Given the description of an element on the screen output the (x, y) to click on. 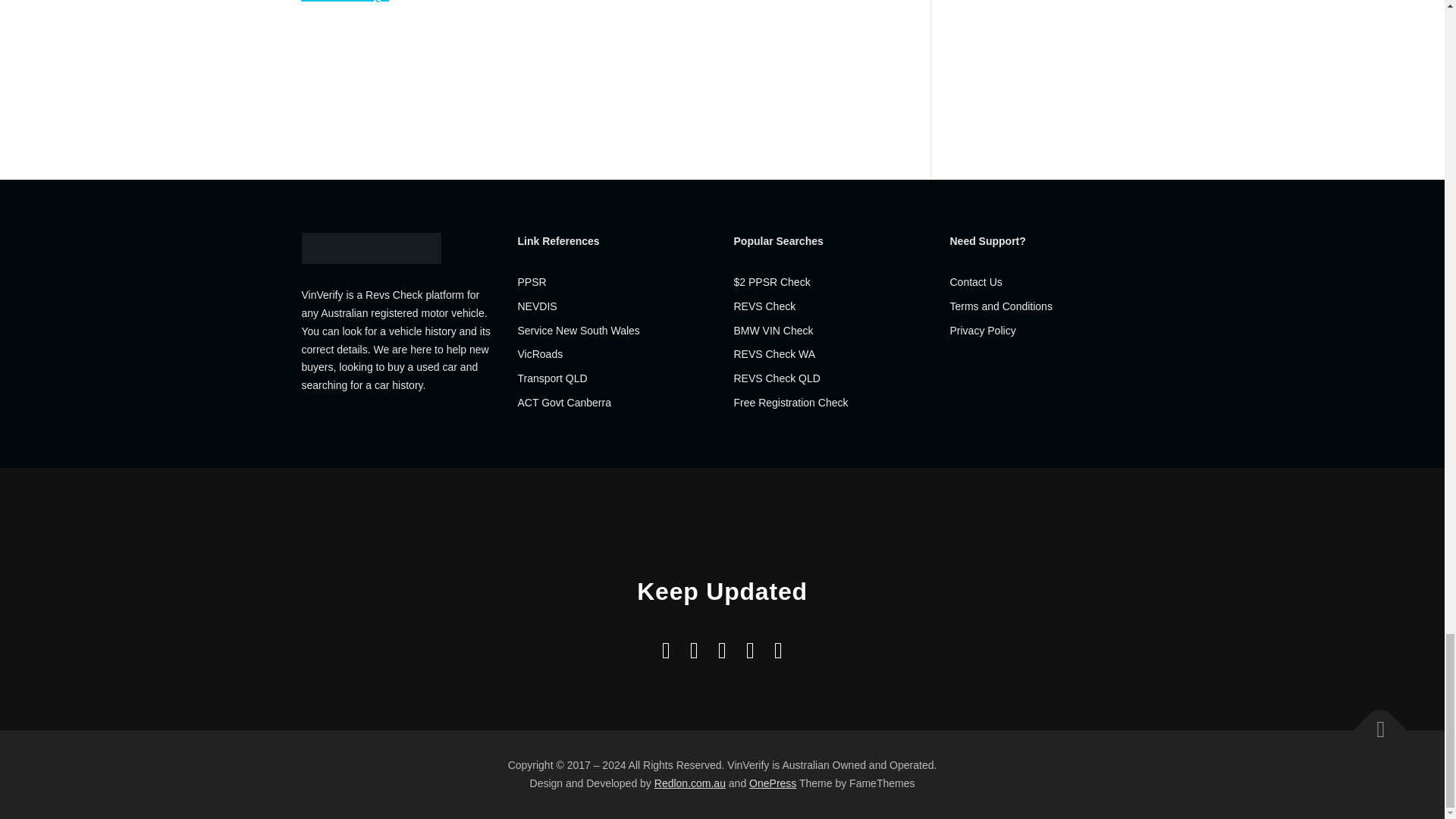
Back To Top (1372, 722)
REVS Check (764, 306)
REVS Check WA (774, 354)
BMW VIN Check (773, 330)
Service New South Wales (577, 330)
NEVDIS (536, 306)
PPSR (531, 282)
VicRoads (539, 354)
MORE FAQs (345, 1)
Transport QLD (551, 378)
Free Registration Check (790, 402)
ACT Govt Canberra (563, 402)
REVS Check QLD (777, 378)
